Given the description of an element on the screen output the (x, y) to click on. 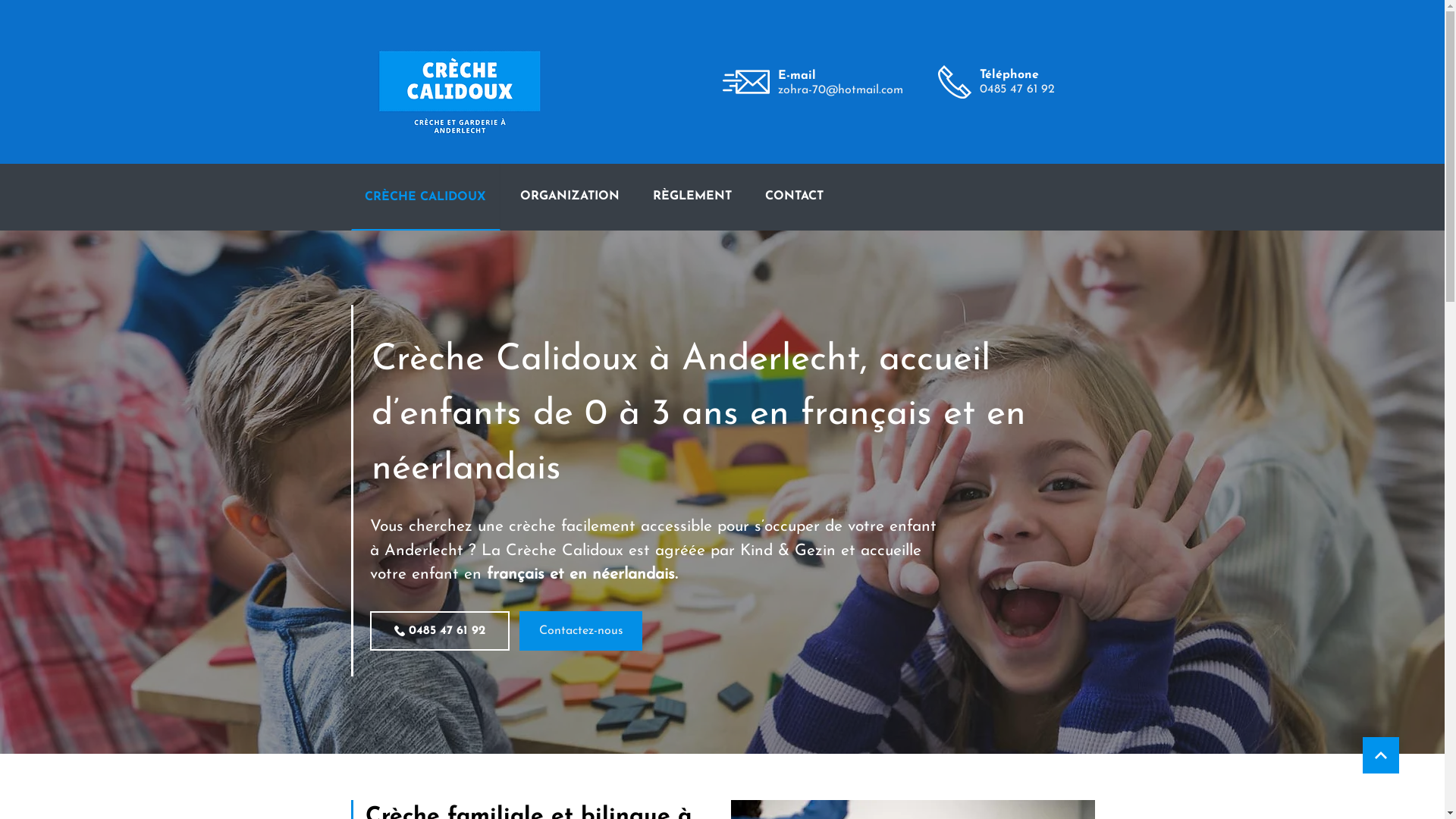
CONTACT Element type: text (794, 196)
zohra-70@hotmail.com Element type: text (840, 90)
0485 47 61 92 Element type: text (1016, 89)
Contactez-nous Element type: text (579, 630)
ORGANIZATION Element type: text (569, 196)
0485 47 61 92 Element type: text (439, 630)
